Given the description of an element on the screen output the (x, y) to click on. 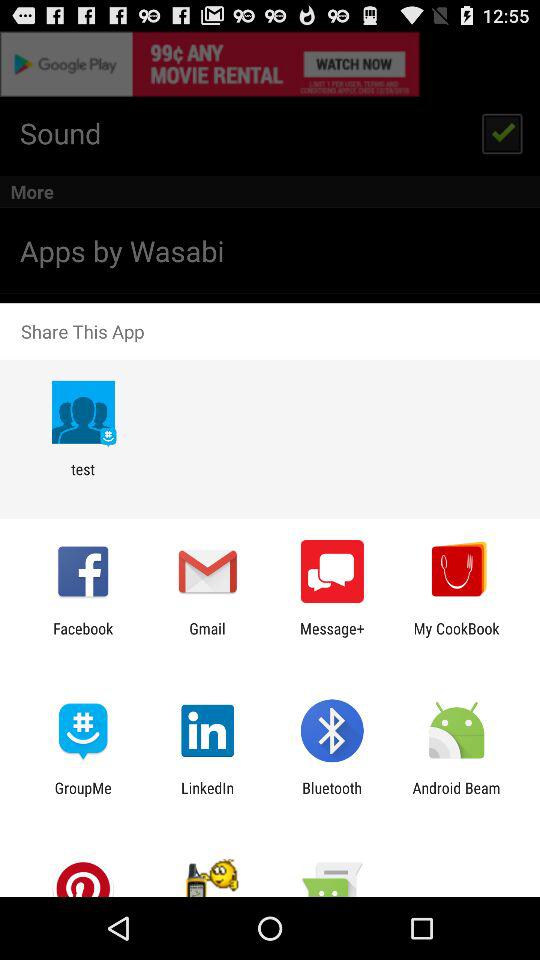
tap android beam (456, 796)
